Given the description of an element on the screen output the (x, y) to click on. 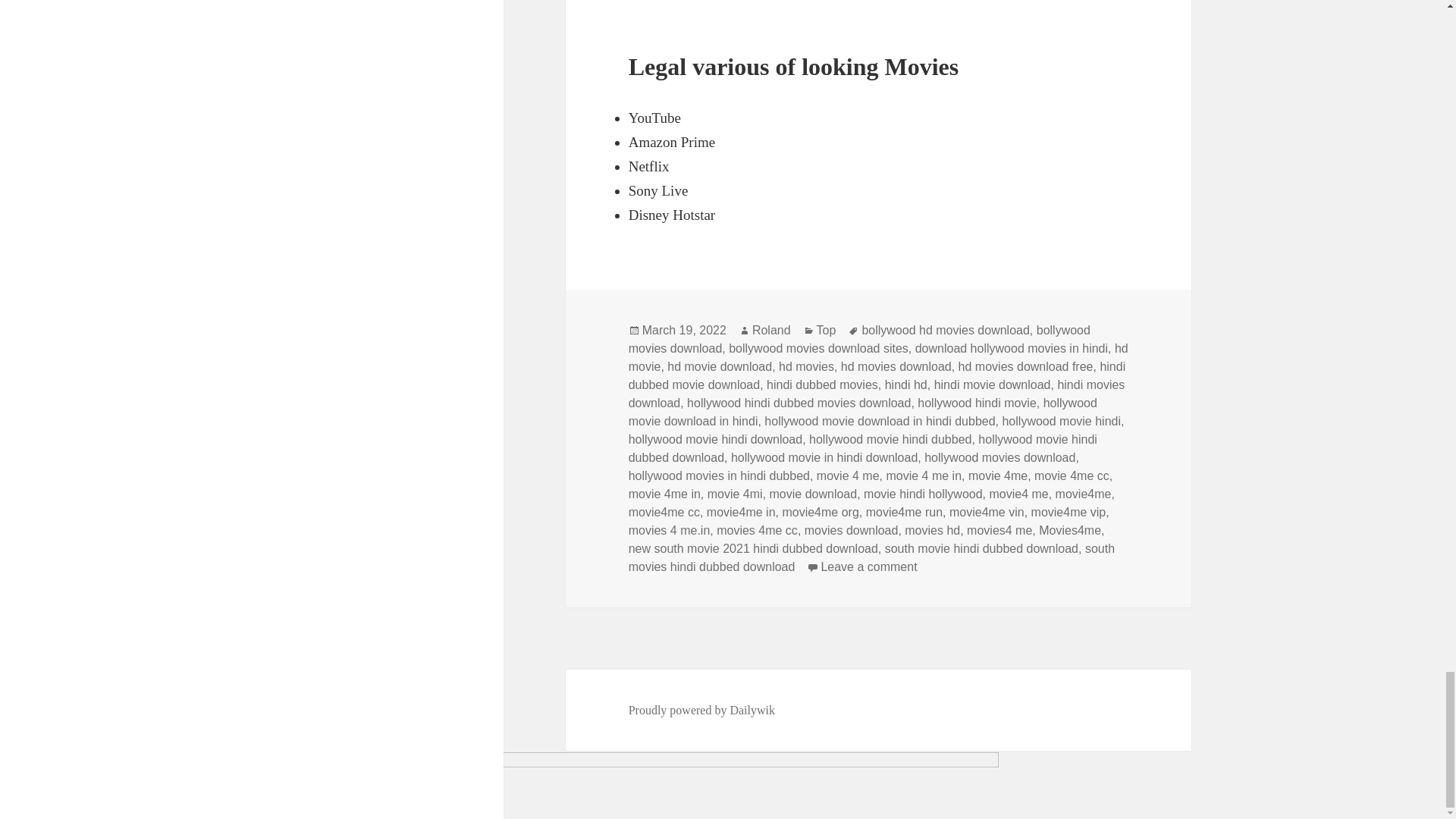
hindi movies download (876, 394)
hollywood hindi dubbed movies download (799, 403)
hd movies (806, 366)
hindi dubbed movies (822, 385)
hd movies download free (1025, 366)
hd movie (878, 357)
bollywood movies download sites (818, 348)
hindi hd (906, 385)
March 19, 2022 (684, 330)
bollywood movies download (859, 339)
